Given the description of an element on the screen output the (x, y) to click on. 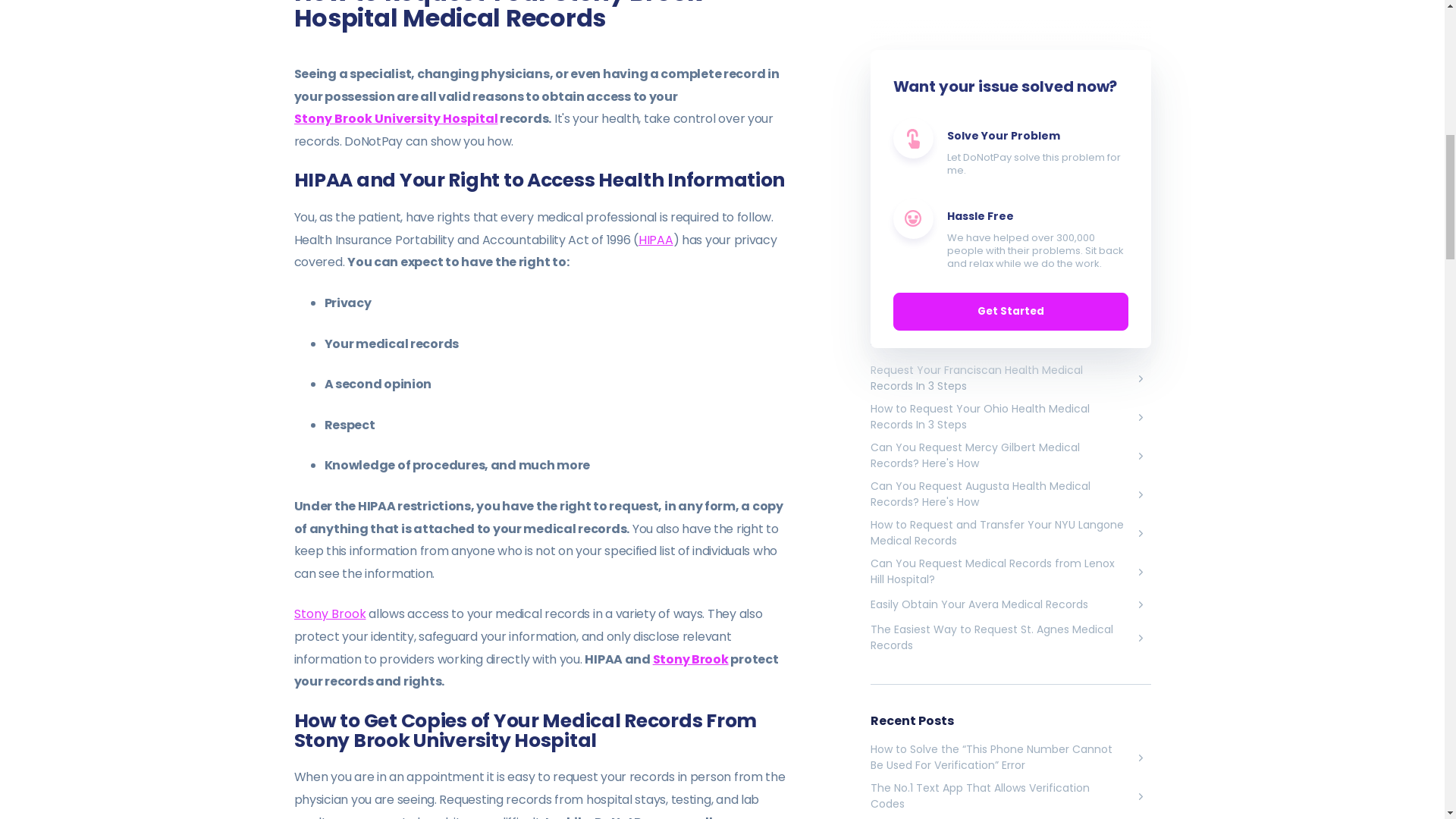
Stony Brook (690, 659)
Stony Brook (330, 613)
Stony Brook University Hospital (395, 117)
HIPAA (655, 239)
